Given the description of an element on the screen output the (x, y) to click on. 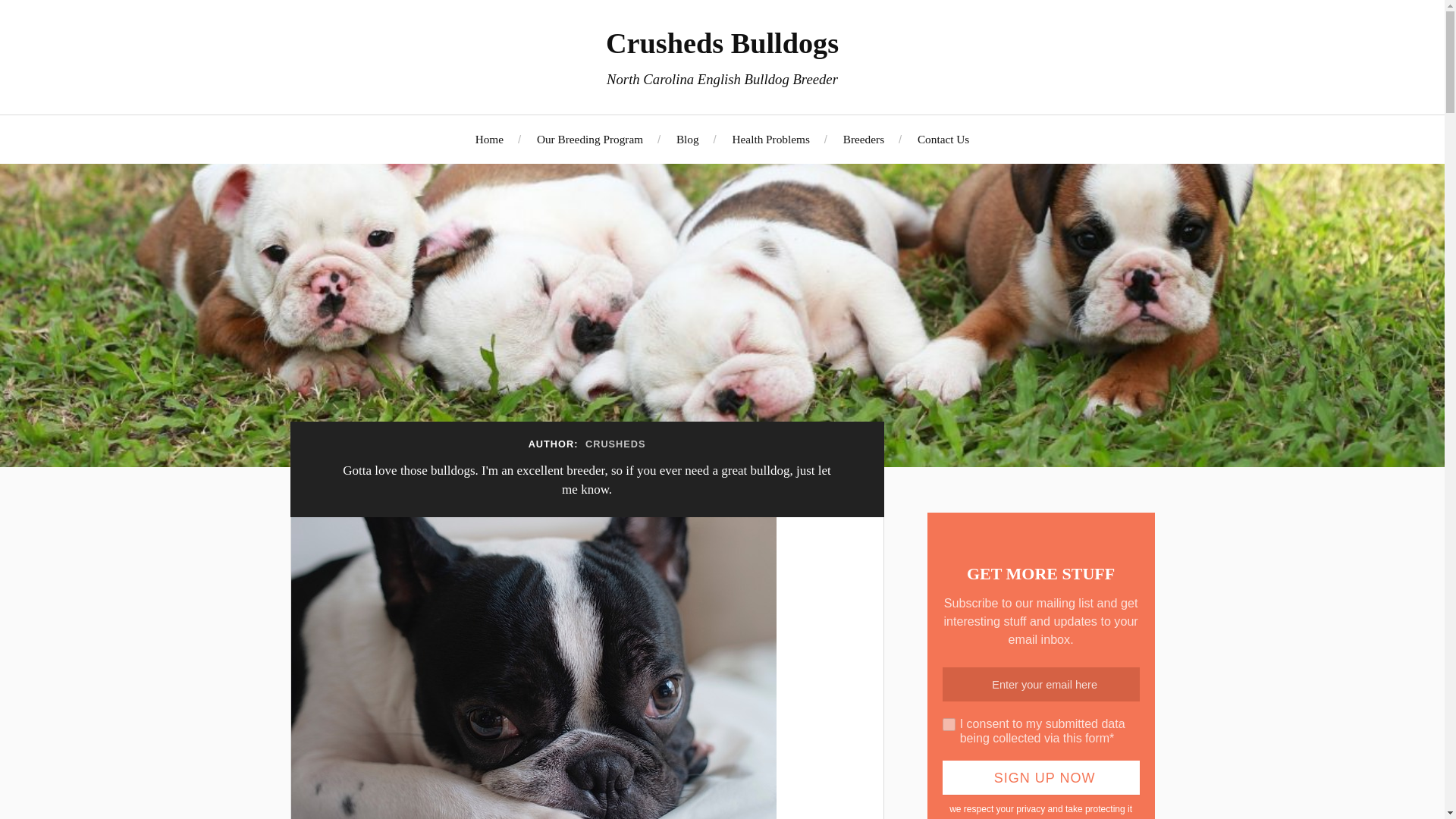
Sign Up Now (1041, 777)
Contact Us (943, 138)
Breeders (863, 138)
Blog (687, 138)
Home (489, 138)
Our Breeding Program (590, 138)
on (948, 724)
Crusheds Bulldogs (721, 42)
Sign Up Now (1041, 777)
Health Problems (770, 138)
